Given the description of an element on the screen output the (x, y) to click on. 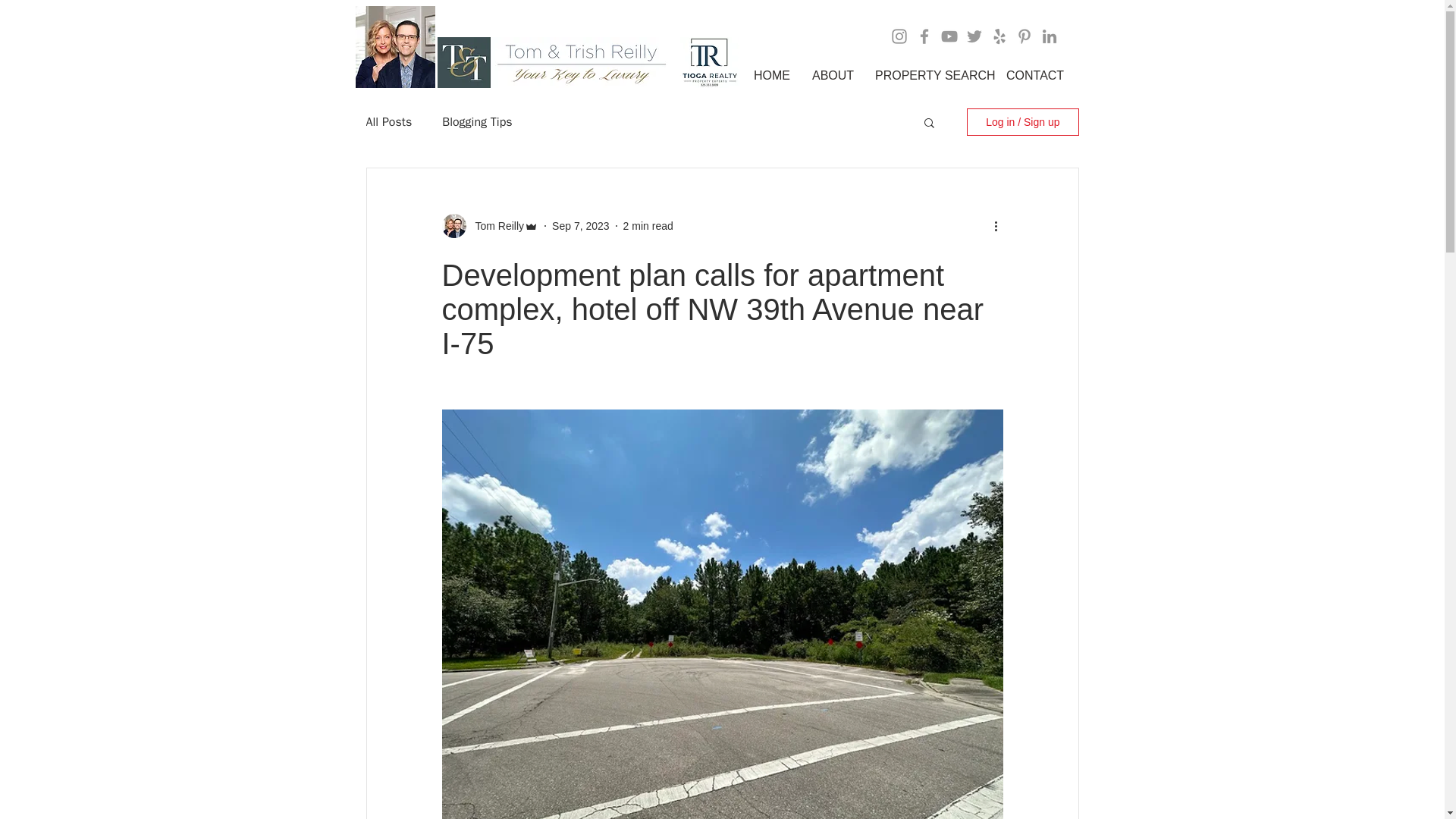
Blogging Tips (477, 121)
CONTACT (1032, 75)
2 min read (647, 225)
Sep 7, 2023 (580, 225)
HOME (771, 75)
Tom Reilly (494, 226)
All Posts (388, 121)
